Given the description of an element on the screen output the (x, y) to click on. 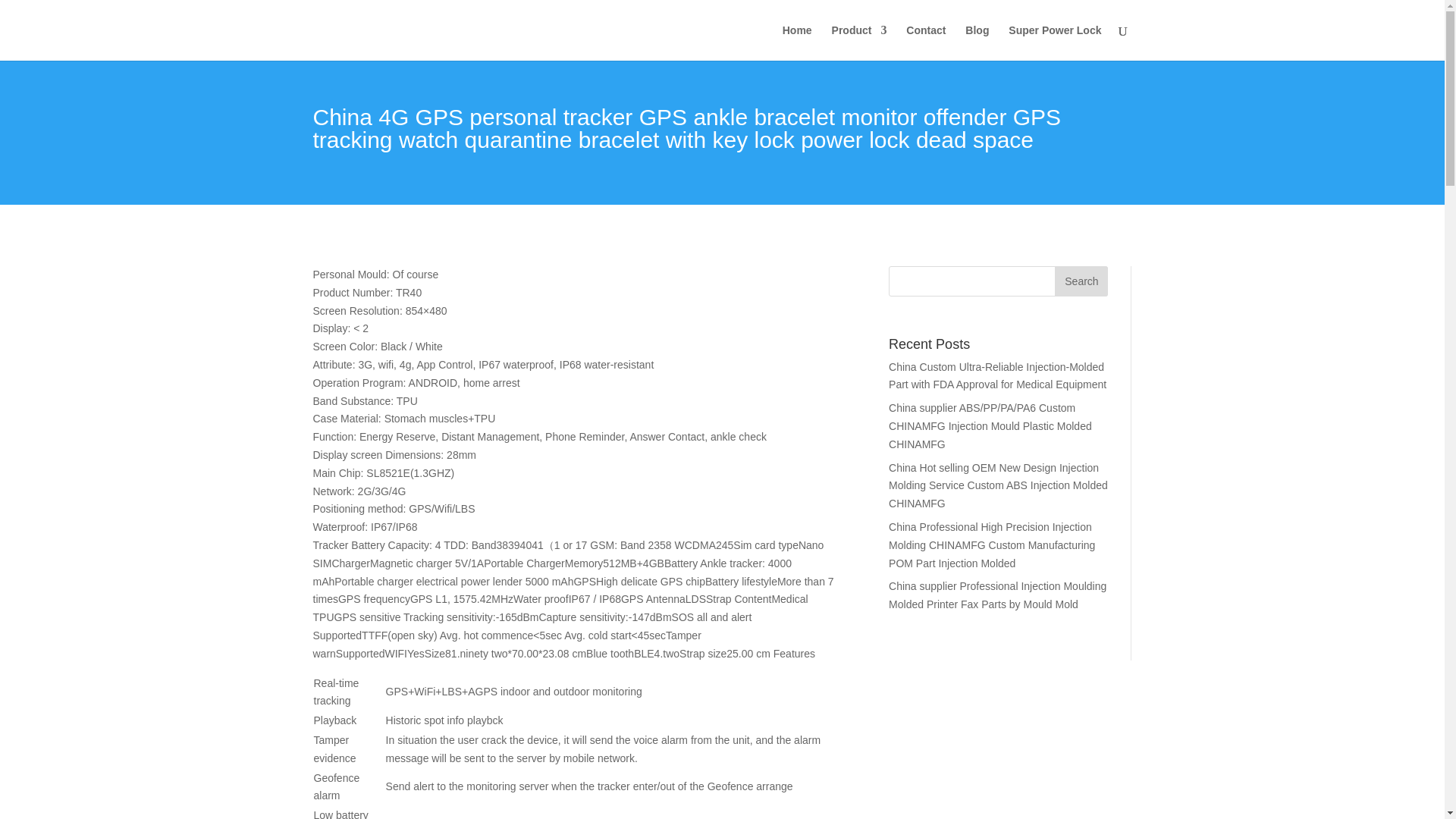
Contact (924, 42)
Search (1081, 281)
Super Power Lock (1054, 42)
Blog (976, 42)
Search (1081, 281)
Product (858, 42)
Home (797, 42)
